Given the description of an element on the screen output the (x, y) to click on. 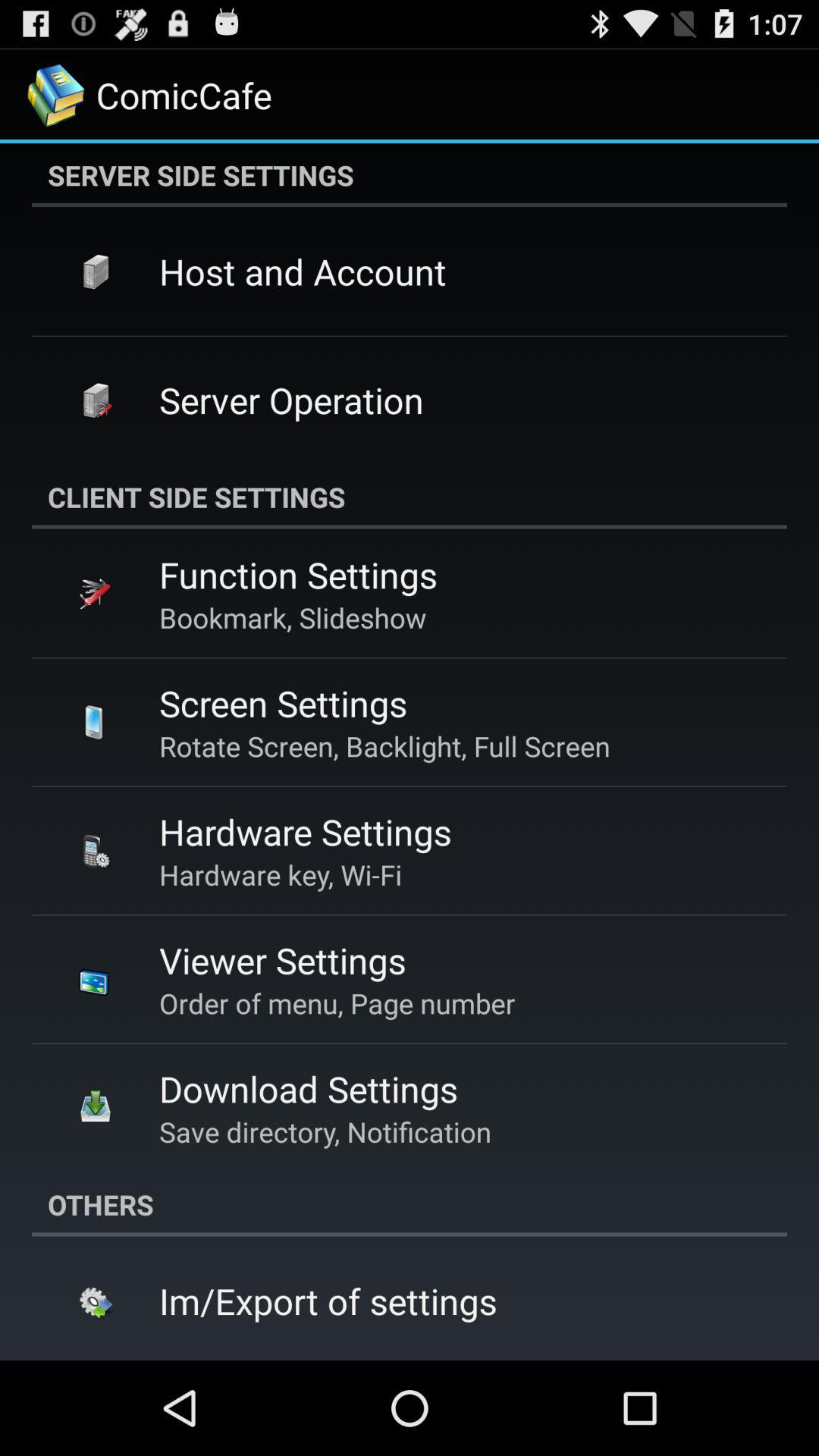
turn on bookmark, slideshow app (292, 617)
